Given the description of an element on the screen output the (x, y) to click on. 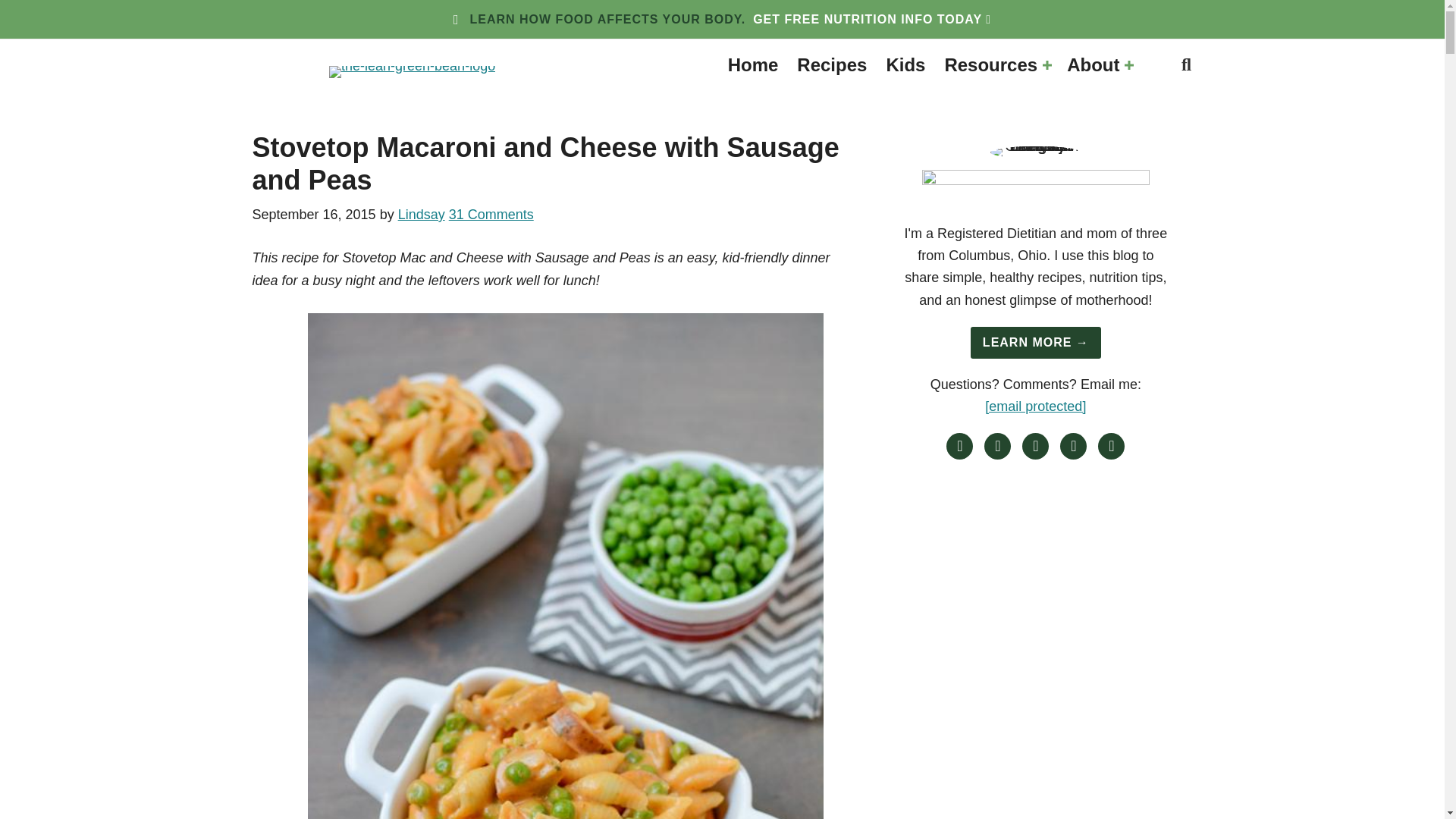
Recipes (831, 64)
the-lean-green-bean-logo (412, 71)
Home (753, 64)
Lindsay-Livingston-Lean-Green-Bean-Healthy-Living-sqopt (1035, 152)
Resources (995, 64)
About (1098, 64)
31 Comments (491, 214)
Kids (905, 64)
Lindsay (421, 214)
